Given the description of an element on the screen output the (x, y) to click on. 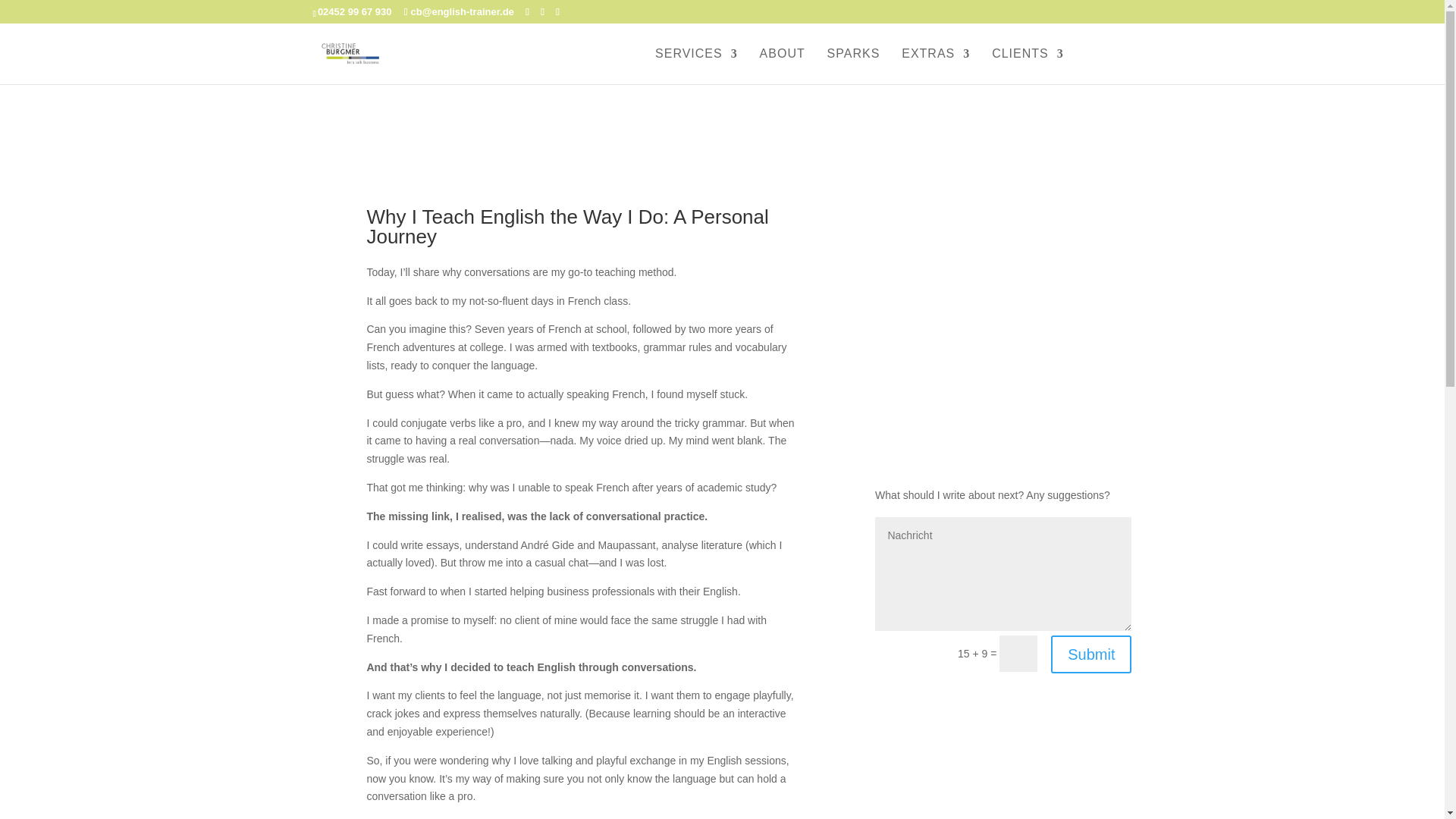
ABOUT (782, 66)
EXTRAS (935, 66)
CLIENTS (1027, 66)
SERVICES (696, 66)
02452 99 67 930 (354, 11)
Submit (1091, 654)
Sparks-of-English (1003, 230)
SPARKS (853, 66)
Christine-Sparks (1003, 389)
